Given the description of an element on the screen output the (x, y) to click on. 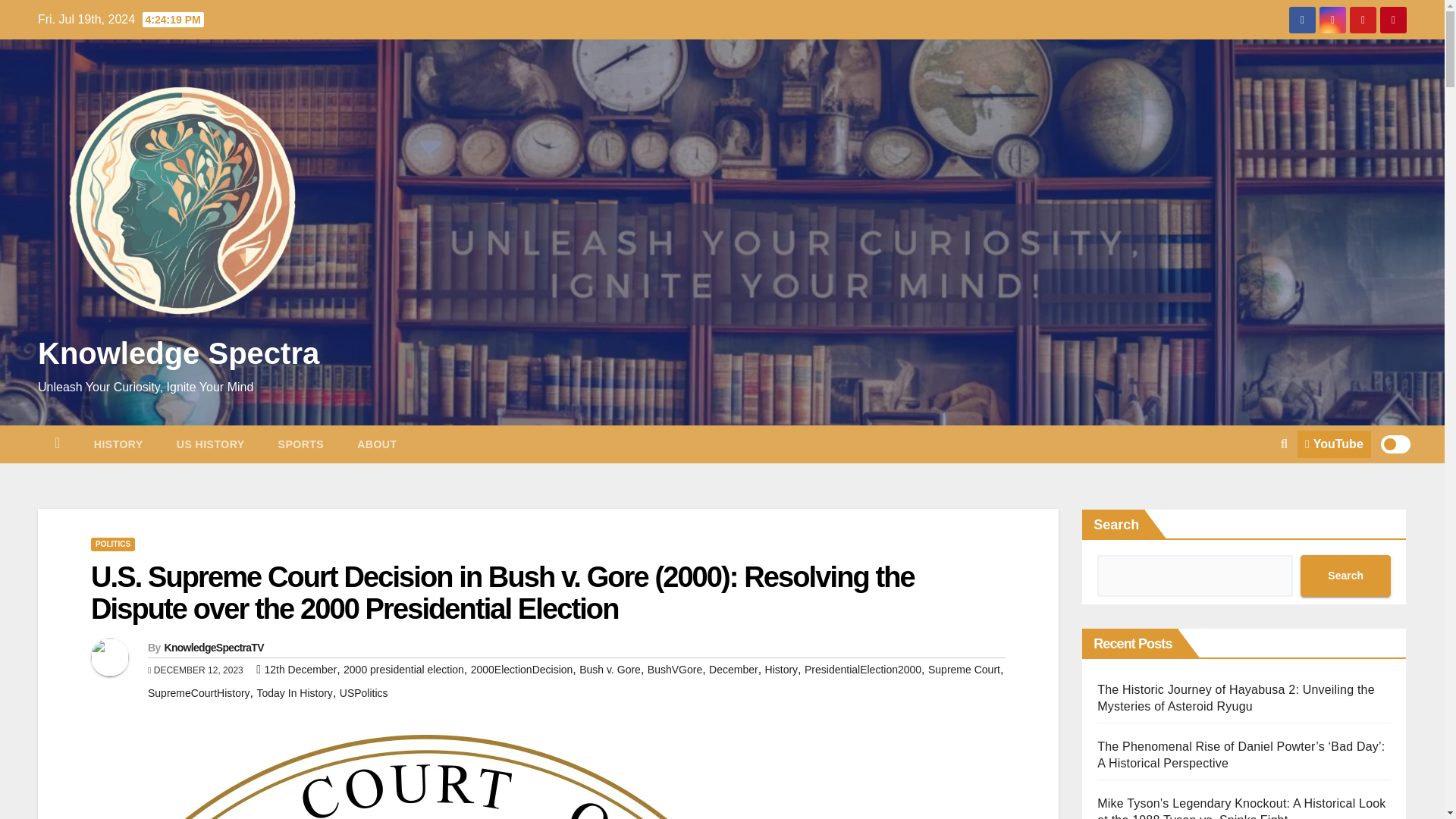
YouTube (1334, 443)
2000ElectionDecision (521, 669)
US History (211, 444)
History (781, 669)
History (118, 444)
2000 presidential election (403, 669)
USPolitics (363, 693)
KnowledgeSpectraTV (213, 647)
BushVGore (674, 669)
HISTORY (118, 444)
Sports (301, 444)
Today In History (293, 693)
Knowledge Spectra (177, 353)
Bush v. Gore (609, 669)
12th December (299, 669)
